Given the description of an element on the screen output the (x, y) to click on. 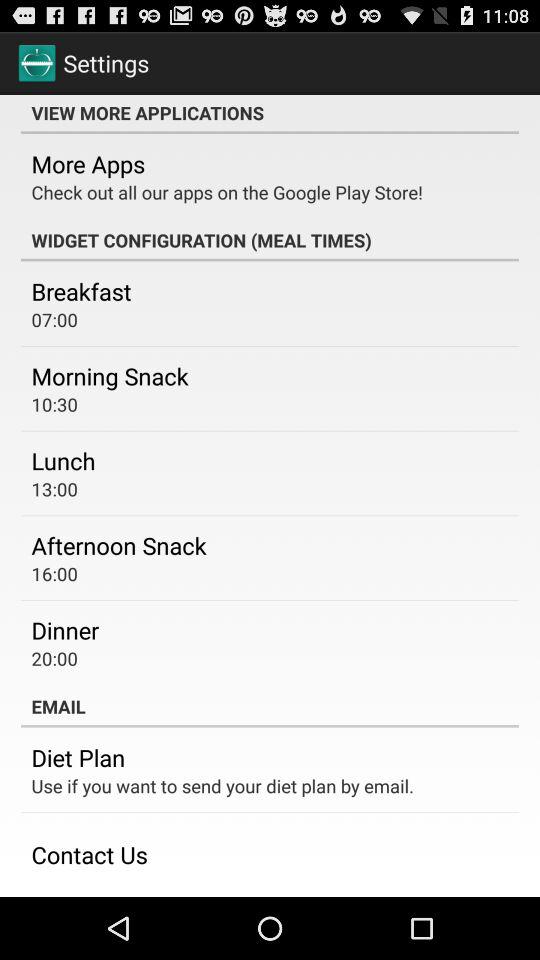
tap the widget configuration meal (270, 239)
